Given the description of an element on the screen output the (x, y) to click on. 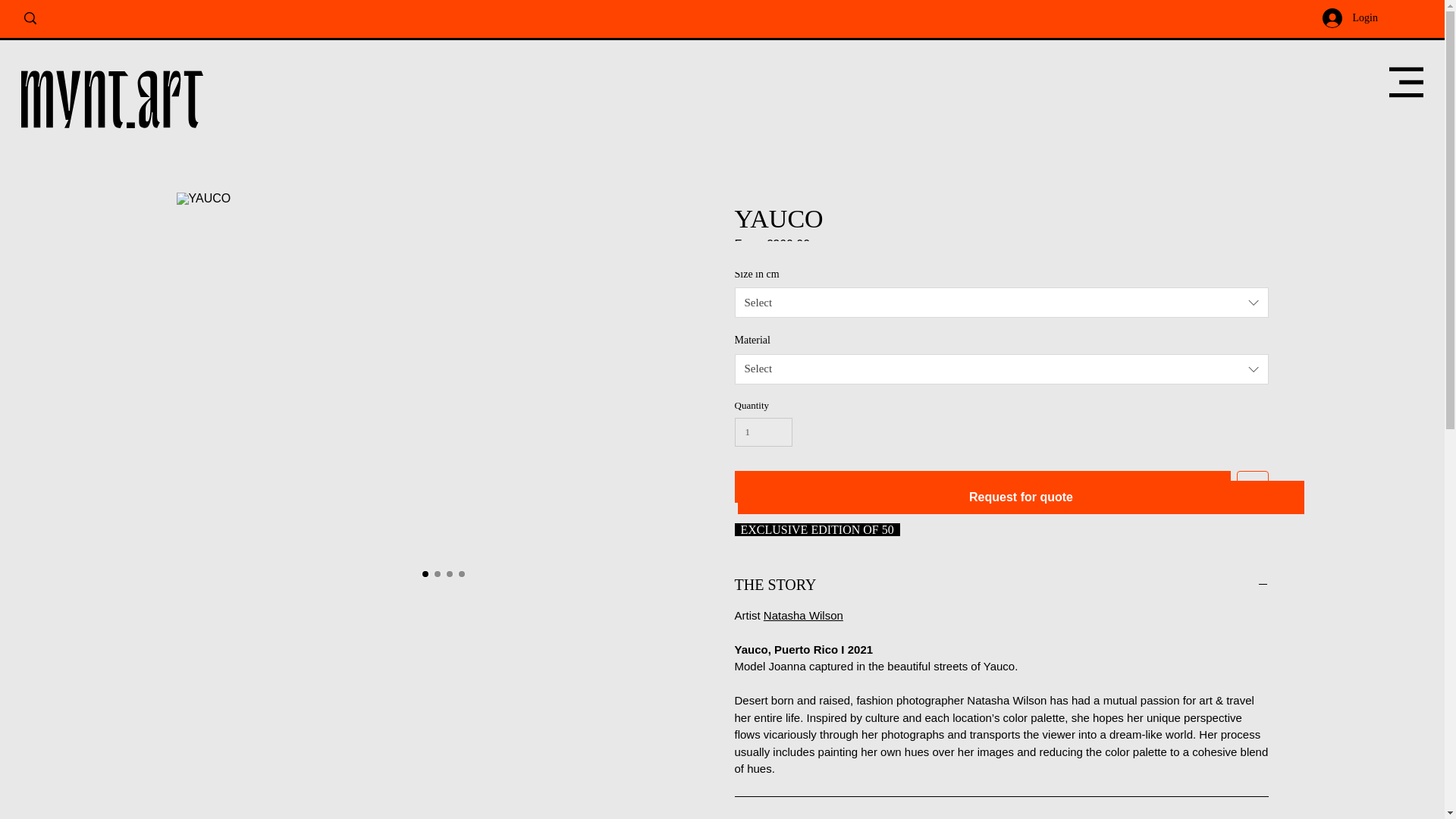
Select (1000, 368)
Add to Cart (981, 486)
Login (1350, 18)
1 (762, 431)
THE STORY (1000, 584)
Select (1000, 302)
Natasha Wilson (802, 615)
Request for quote (1021, 497)
